Given the description of an element on the screen output the (x, y) to click on. 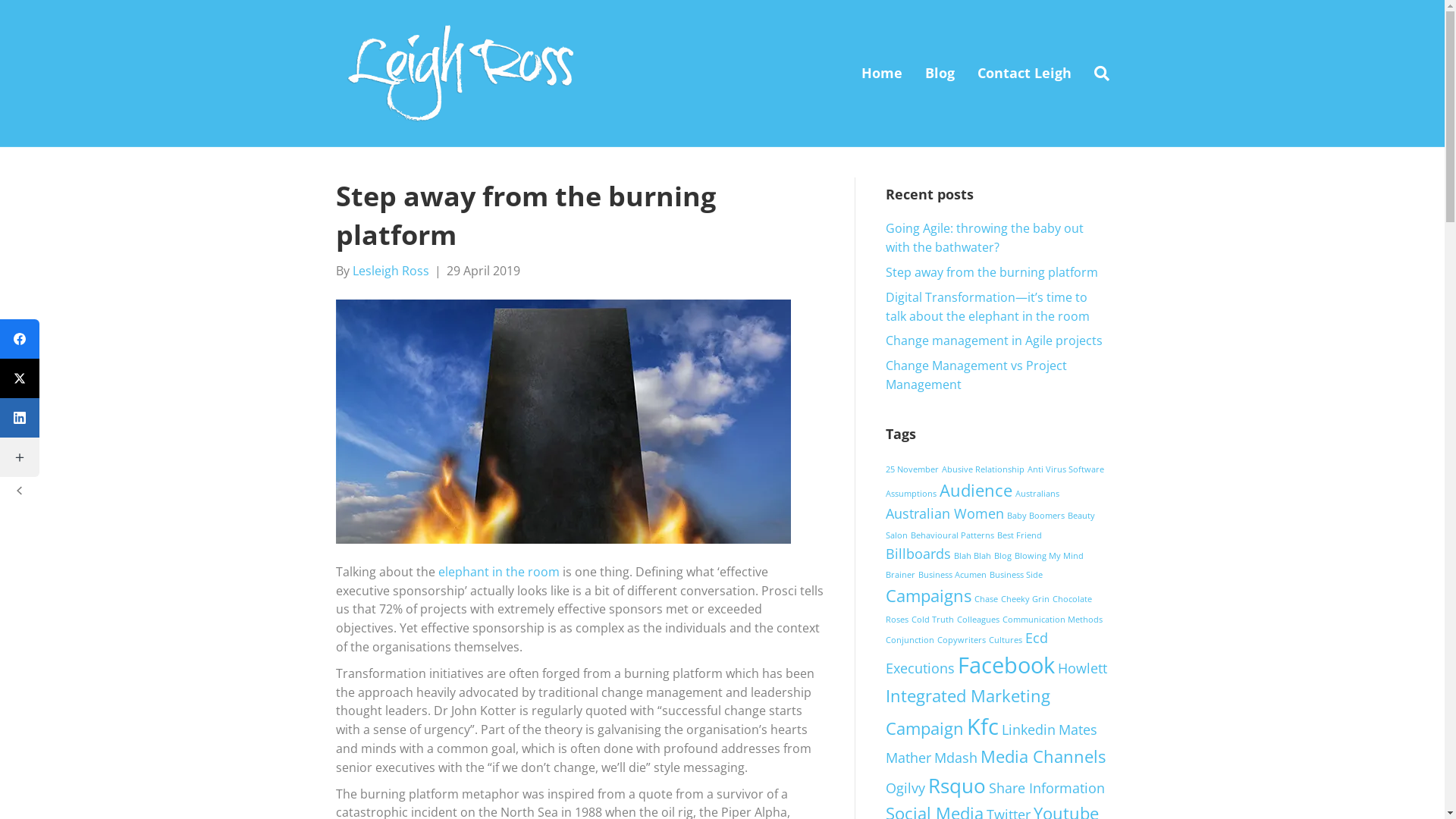
Anti Virus Software Element type: text (1064, 469)
Lesleigh Ross Element type: text (389, 270)
Mdash Element type: text (955, 757)
Blog Element type: text (1001, 555)
Beauty Salon Element type: text (990, 524)
Behavioural Patterns Element type: text (951, 535)
Best Friend Element type: text (1018, 535)
Communication Methods Element type: text (1052, 619)
Campaigns Element type: text (928, 595)
Copywriters Element type: text (961, 639)
Media Channels Element type: text (1041, 756)
Kfc Element type: text (981, 726)
Blah Blah Element type: text (972, 555)
Rsquo Element type: text (956, 785)
Going Agile: throwing the baby out with the bathwater? Element type: text (984, 237)
Brainer Element type: text (900, 574)
Billboards Element type: text (917, 553)
Howlett Element type: text (1081, 667)
Share Information Element type: text (1046, 787)
Contact Leigh Element type: text (1024, 73)
Cultures Element type: text (1005, 639)
Linkedin Element type: text (1027, 729)
Abusive Relationship Element type: text (982, 469)
Ecd Element type: text (1036, 637)
Ogilvy Element type: text (905, 787)
Cold Truth Element type: text (932, 619)
elephant in the room Element type: text (498, 571)
Business Side Element type: text (1014, 574)
Blog Element type: text (939, 73)
Australians Element type: text (1036, 493)
Cheeky Grin Element type: text (1025, 598)
Australian Women Element type: text (944, 513)
Blowing My Mind Element type: text (1048, 555)
Facebook Element type: text (1005, 664)
Business Acumen Element type: text (951, 574)
Colleagues Element type: text (978, 619)
Home Element type: text (881, 73)
Change Management vs Project Management Element type: text (975, 374)
Integrated Marketing Campaign Element type: text (967, 712)
Change management in Agile projects Element type: text (993, 340)
25 November Element type: text (911, 469)
Conjunction Element type: text (909, 639)
Executions Element type: text (919, 667)
Mates Element type: text (1077, 729)
Assumptions Element type: text (910, 493)
Mather Element type: text (908, 757)
Chase Element type: text (985, 598)
Audience Element type: text (974, 490)
Step away from the burning platform Element type: text (991, 271)
Baby Boomers Element type: text (1035, 515)
Chocolate Roses Element type: text (988, 609)
